Given the description of an element on the screen output the (x, y) to click on. 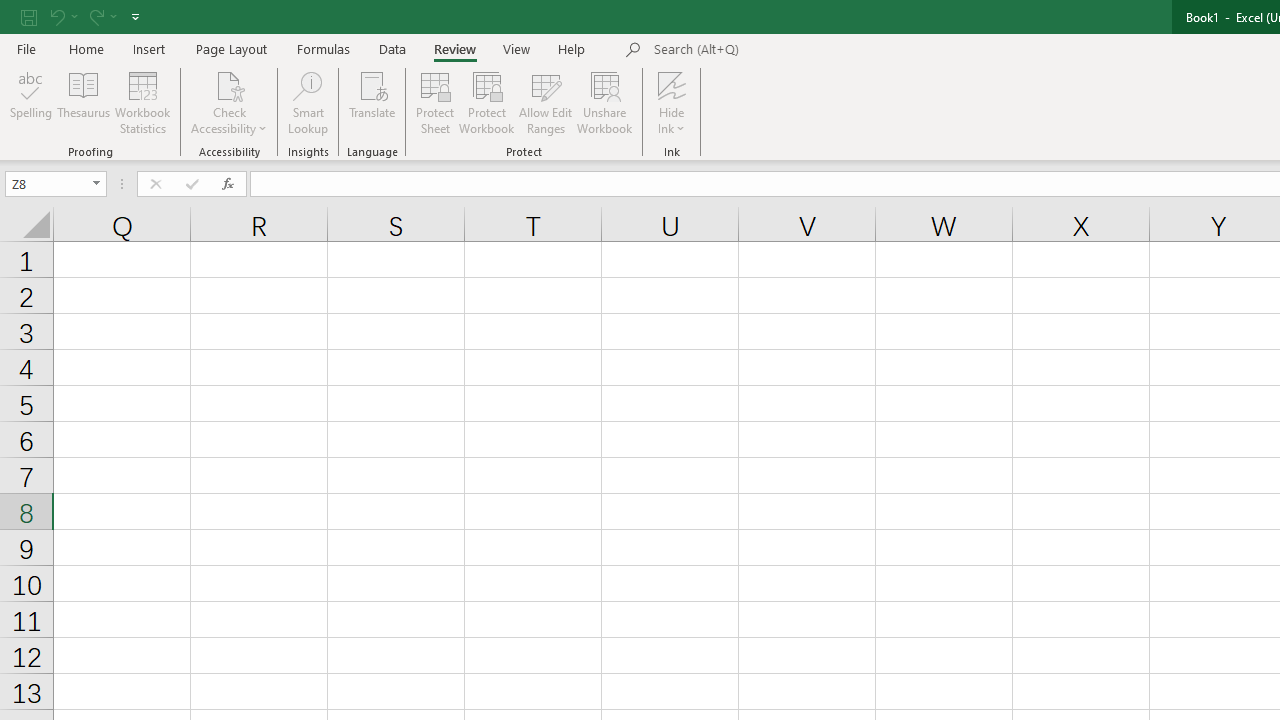
Protect Sheet... (434, 102)
Hide Ink (671, 84)
